Given the description of an element on the screen output the (x, y) to click on. 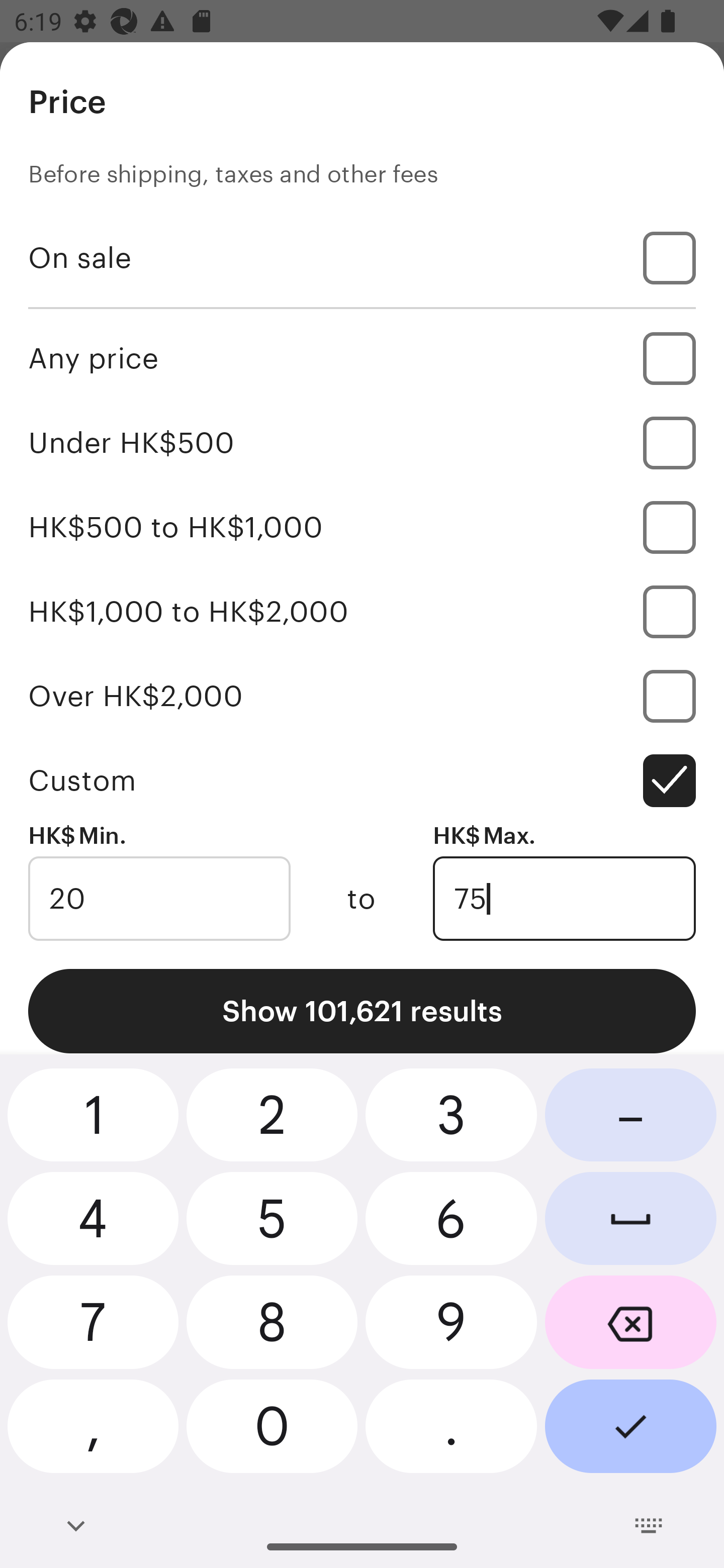
On sale (362, 257)
Any price (362, 357)
Under HK$500 (362, 441)
HK$500 to HK$1,000 (362, 526)
HK$1,000 to HK$2,000 (362, 611)
Over HK$2,000 (362, 695)
Custom (362, 780)
20 (159, 898)
75 (563, 898)
Show 101,621 results (361, 1011)
